Given the description of an element on the screen output the (x, y) to click on. 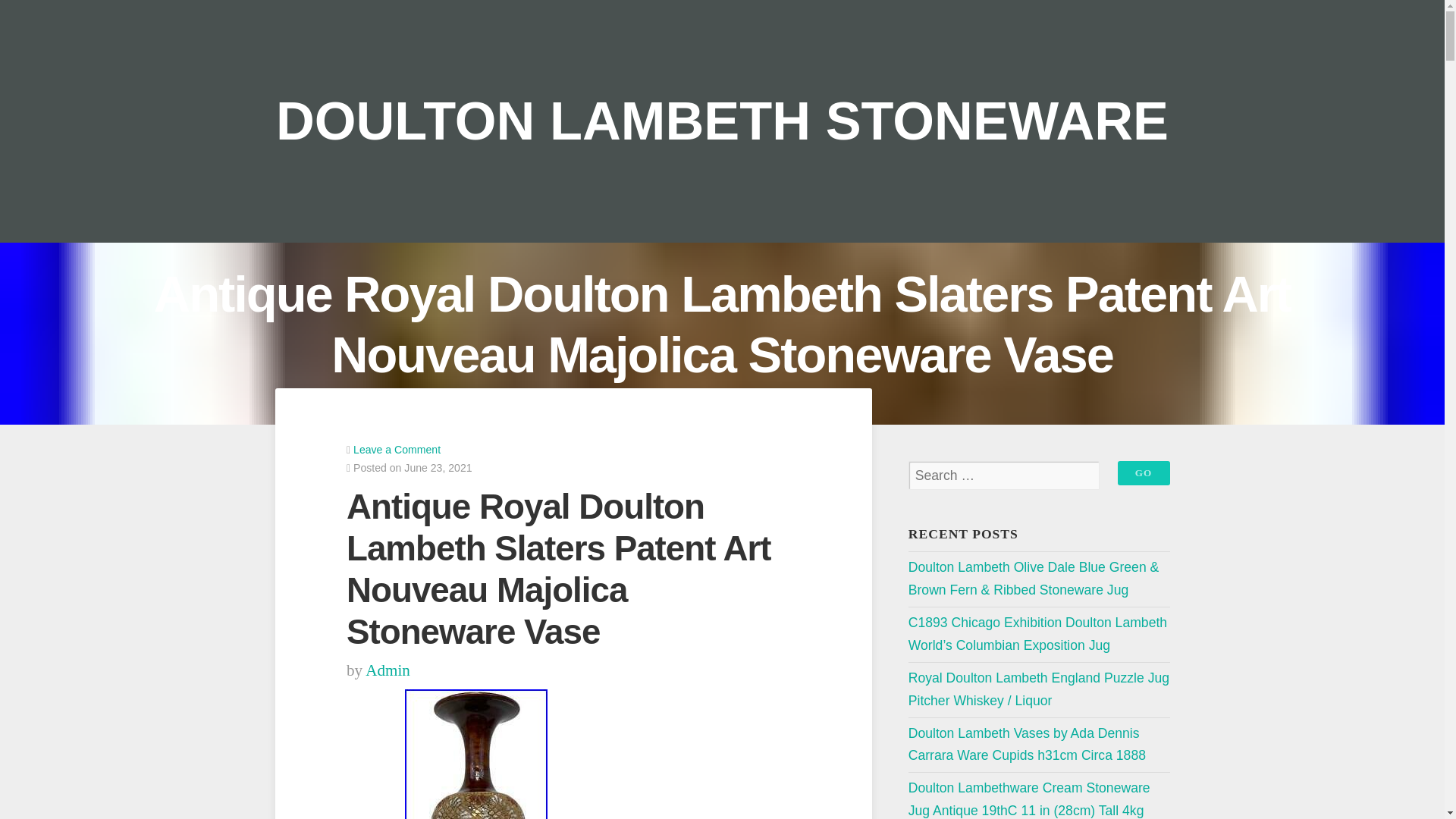
Go (1144, 473)
Go (1144, 473)
Posts by admin (387, 669)
DOULTON LAMBETH STONEWARE (722, 120)
Admin (387, 669)
Leave a Comment (397, 449)
